Given the description of an element on the screen output the (x, y) to click on. 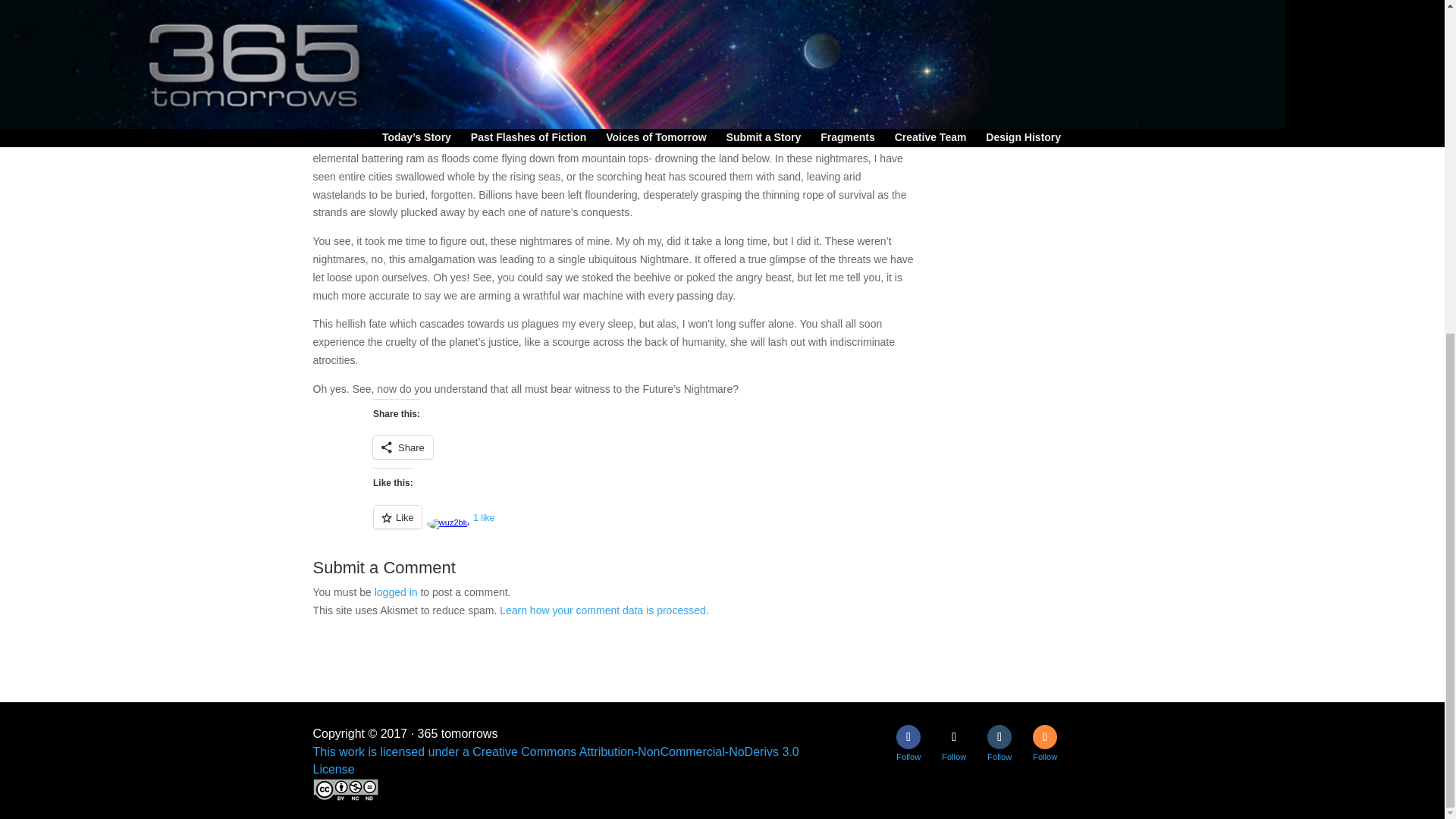
Follow (908, 736)
Follow on Twitter (954, 736)
Follow on Facebook (908, 736)
logged in (395, 592)
Follow on tumblr (999, 736)
Follow (999, 736)
Share (402, 446)
Follow (954, 736)
Follow (1044, 736)
